Given the description of an element on the screen output the (x, y) to click on. 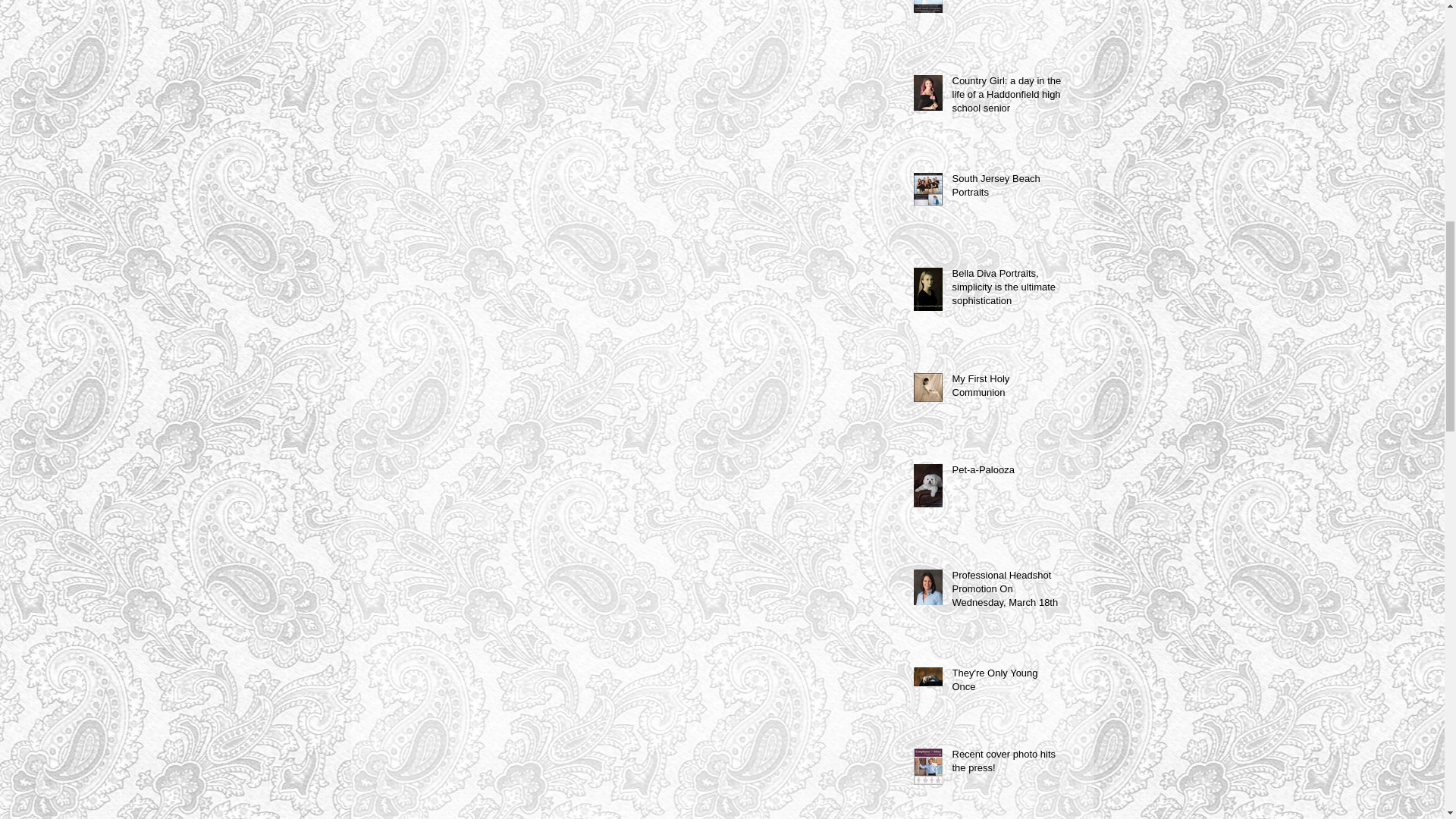
My First Holy Communion (1006, 388)
Professional Headshot Promotion On Wednesday, March 18th (1006, 592)
South Jersey Beach Portraits (1006, 188)
Pet-a-Palooza (1006, 473)
Summer Beach Portraits (1006, 1)
